Given the description of an element on the screen output the (x, y) to click on. 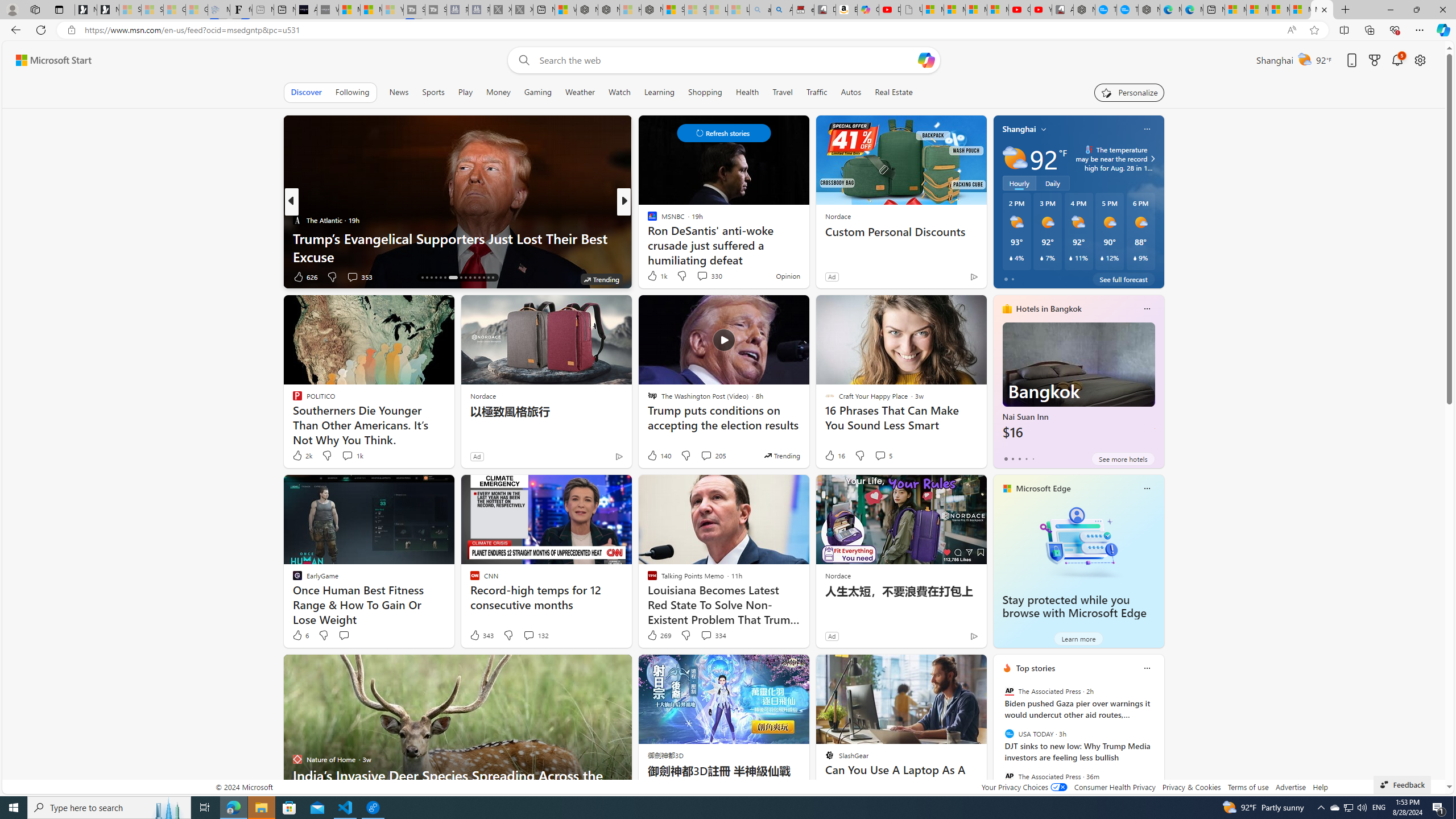
See more (972, 668)
140 Like (658, 455)
Learning (658, 92)
Untitled (911, 9)
MUO (647, 219)
18 Ways to Tank Your Respect: Behaviors That Turn People Off (807, 247)
View comments 266 Comment (703, 276)
Microsoft Edge (1043, 488)
AutomationID: tab-19 (435, 277)
Play (465, 92)
Nordace - Summer Adventures 2024 (608, 9)
